Given the description of an element on the screen output the (x, y) to click on. 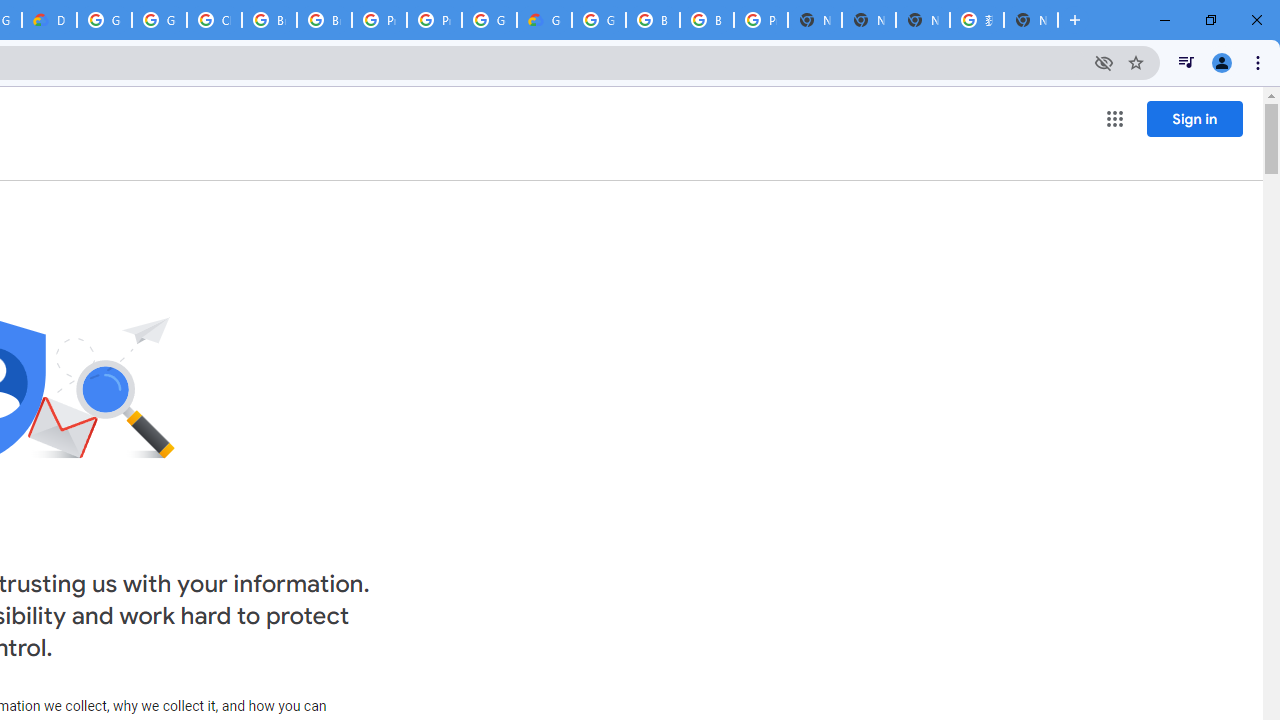
New Tab (1030, 20)
Google Cloud Platform (598, 20)
Browse Chrome as a guest - Computer - Google Chrome Help (268, 20)
